Given the description of an element on the screen output the (x, y) to click on. 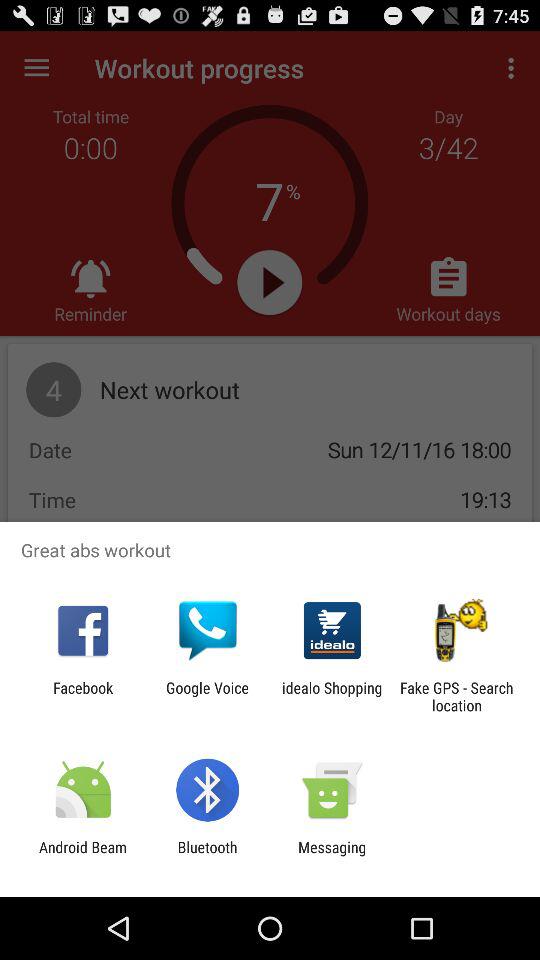
flip to the messaging icon (332, 856)
